Given the description of an element on the screen output the (x, y) to click on. 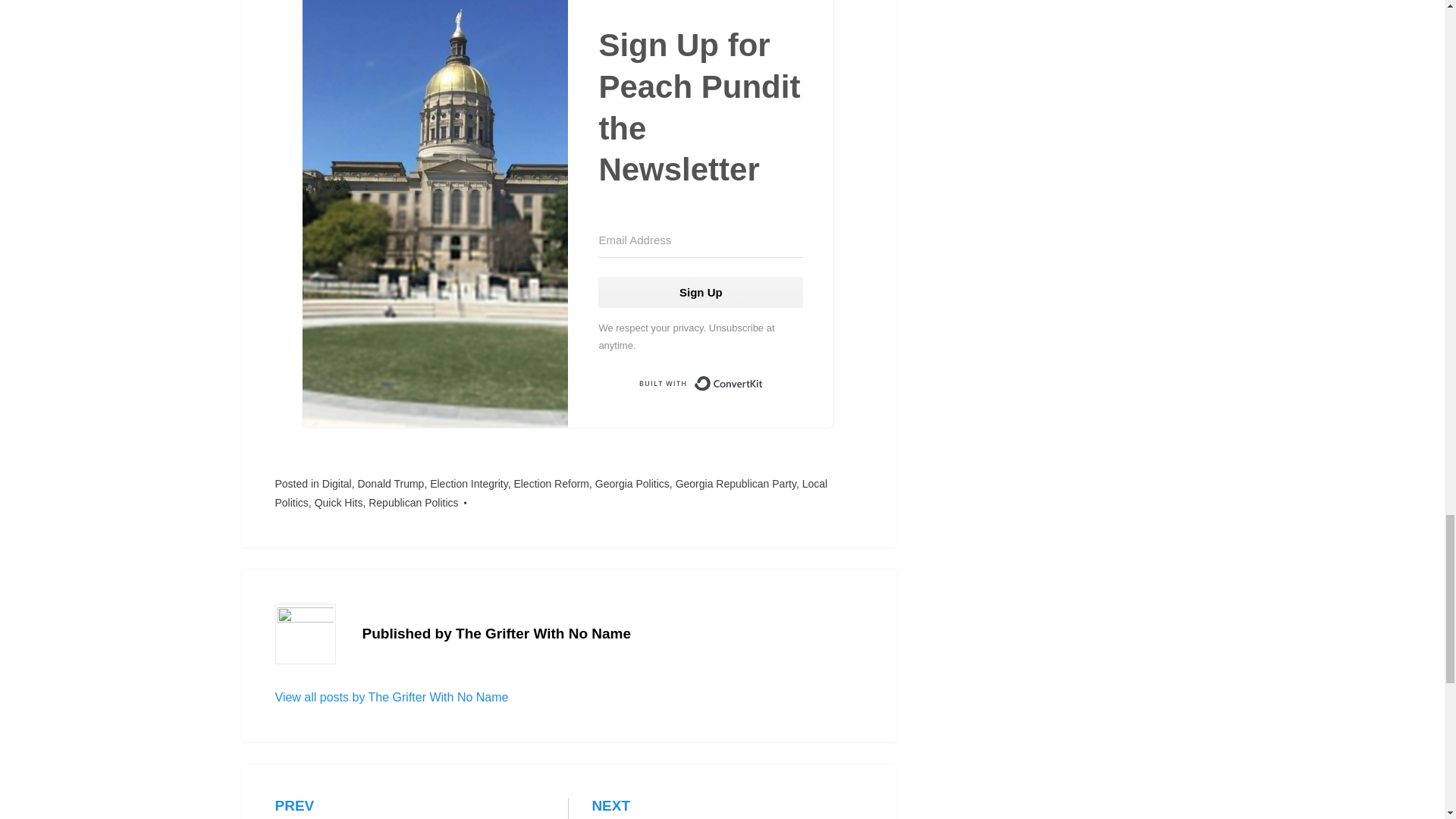
Georgia Republican Party (735, 483)
View all posts by The Grifter With No Name (391, 697)
Republican Politics (409, 808)
Donald Trump (726, 808)
Election Reform (413, 502)
Quick Hits (389, 483)
Local Politics (551, 483)
Georgia Politics (338, 502)
